Given the description of an element on the screen output the (x, y) to click on. 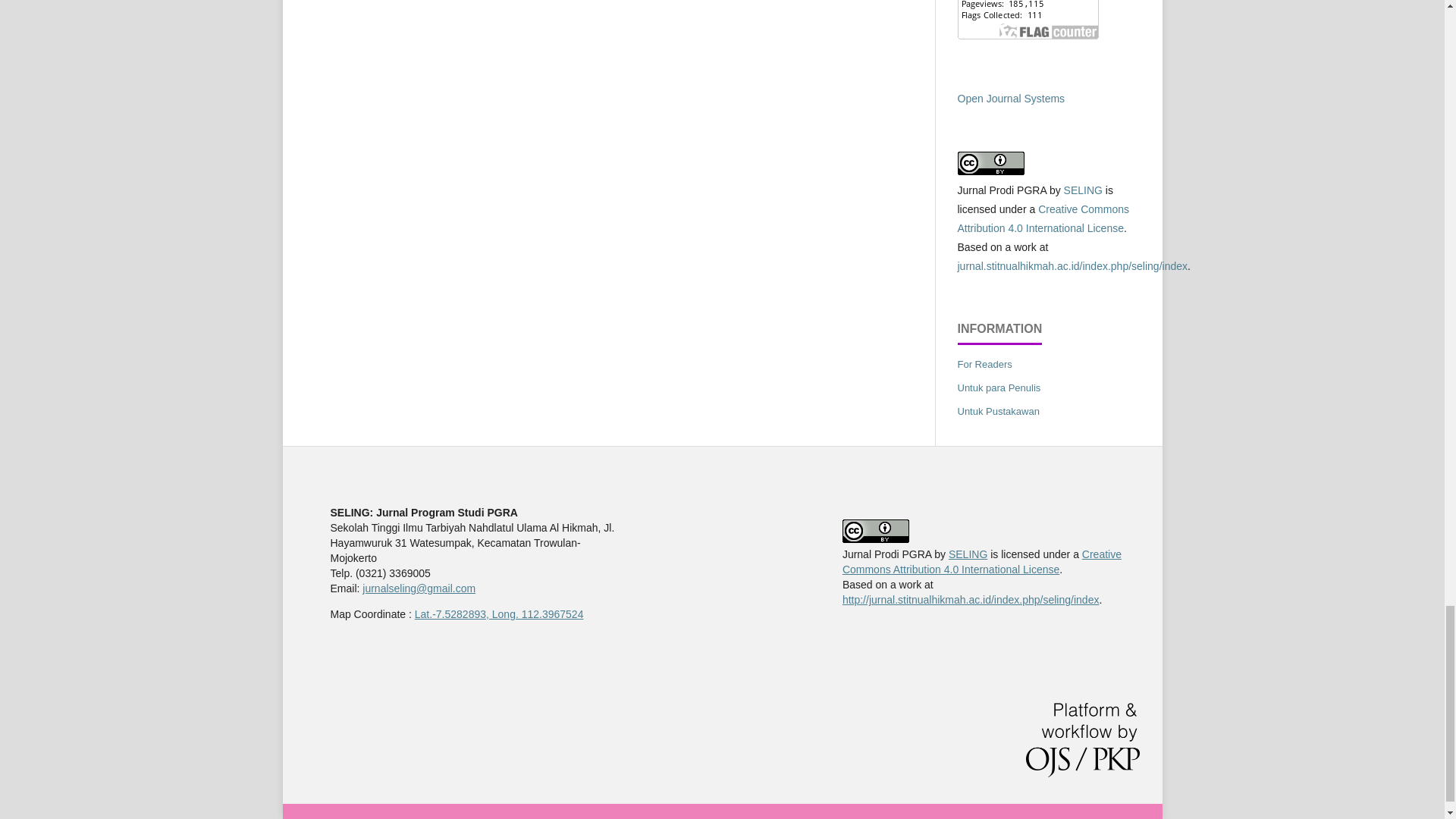
Map Coordinate (498, 613)
CC-BY (1083, 190)
